Given the description of an element on the screen output the (x, y) to click on. 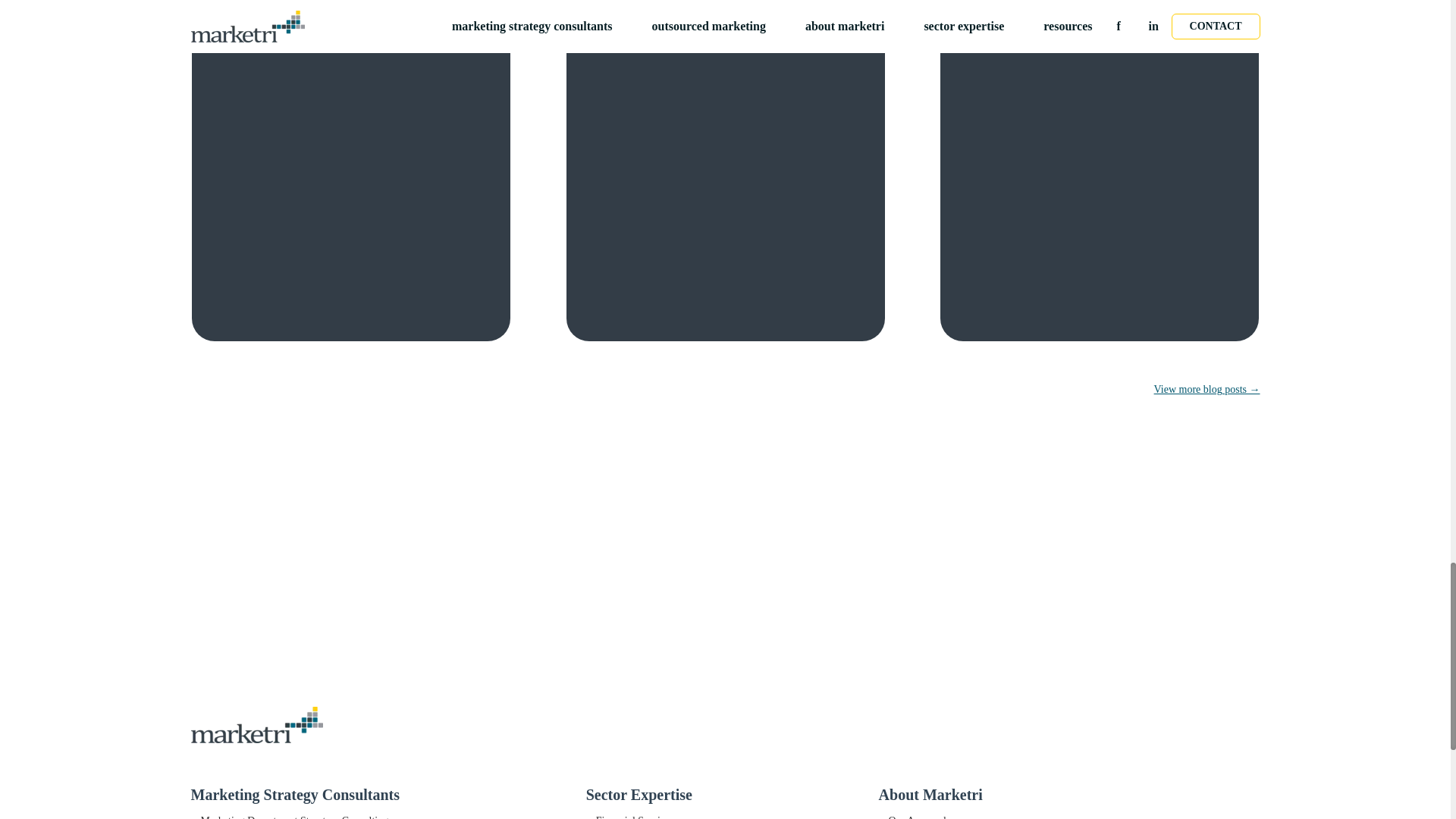
Marketri (725, 724)
